Given the description of an element on the screen output the (x, y) to click on. 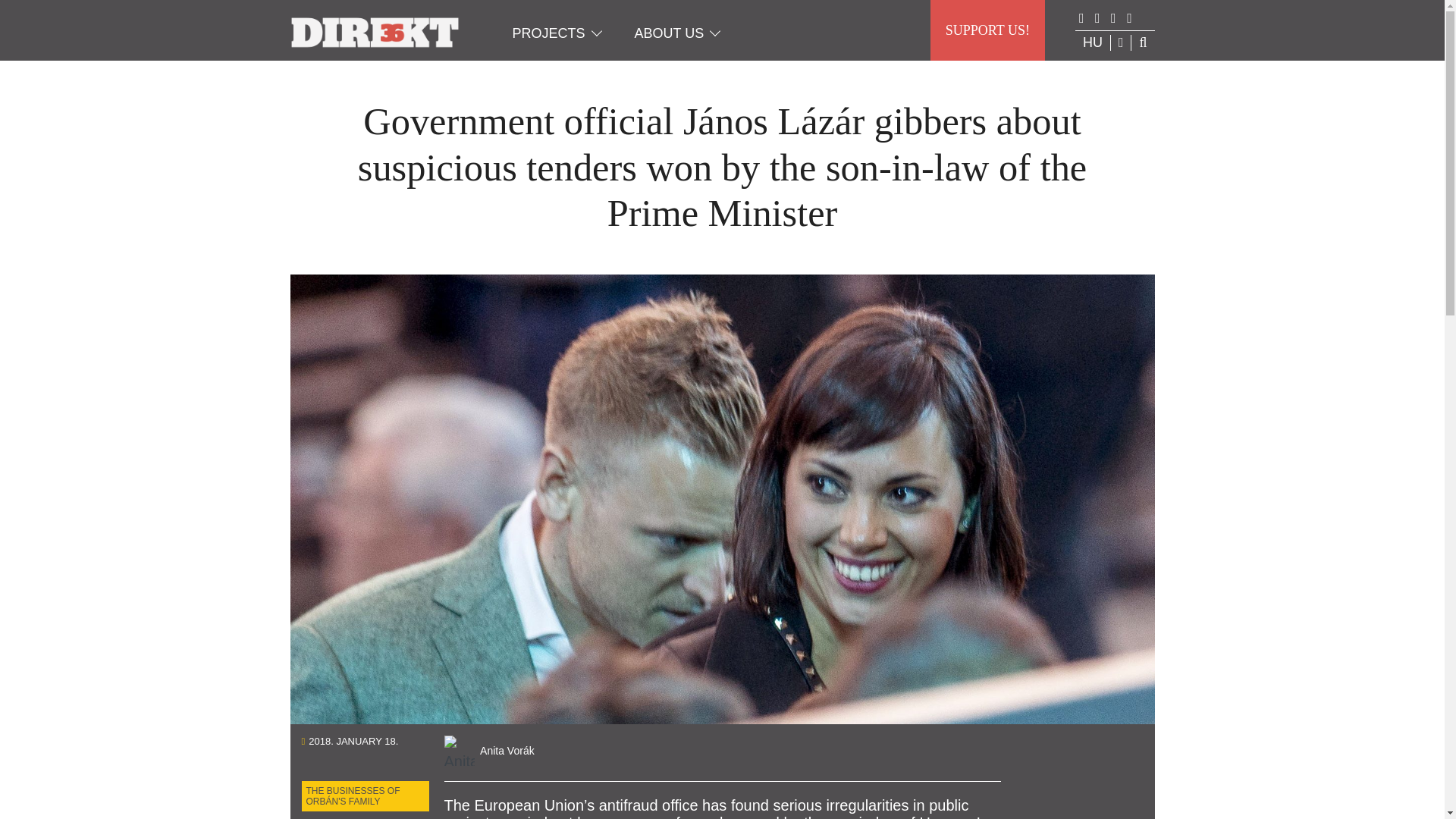
PROJECTS (548, 33)
ABOUT US (668, 33)
HU (1092, 42)
SUPPORT US! (986, 29)
